Given the description of an element on the screen output the (x, y) to click on. 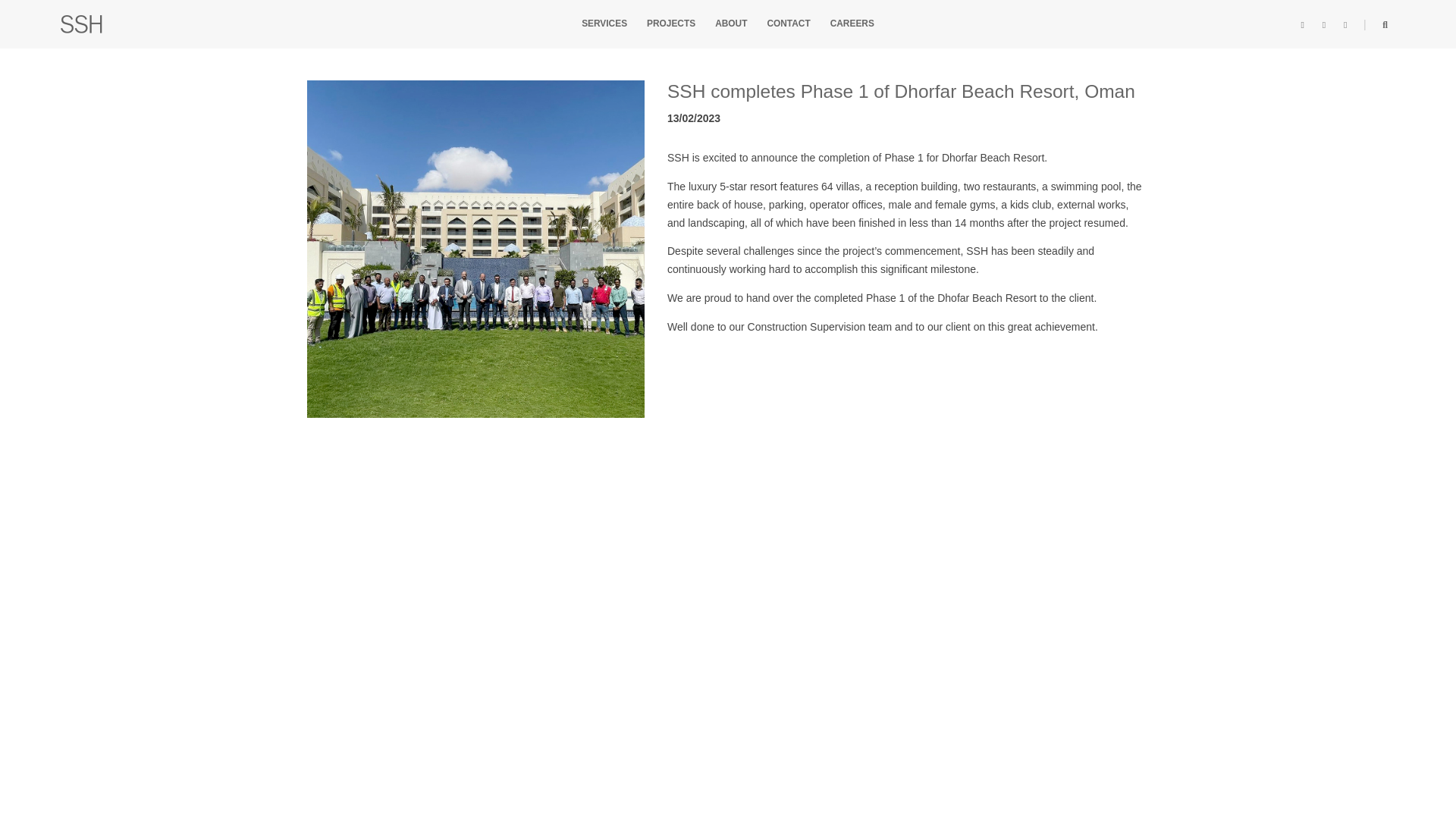
PROJECTS (670, 23)
CAREERS (852, 23)
ABOUT (730, 23)
CONTACT (788, 23)
SERVICES (603, 23)
